Given the description of an element on the screen output the (x, y) to click on. 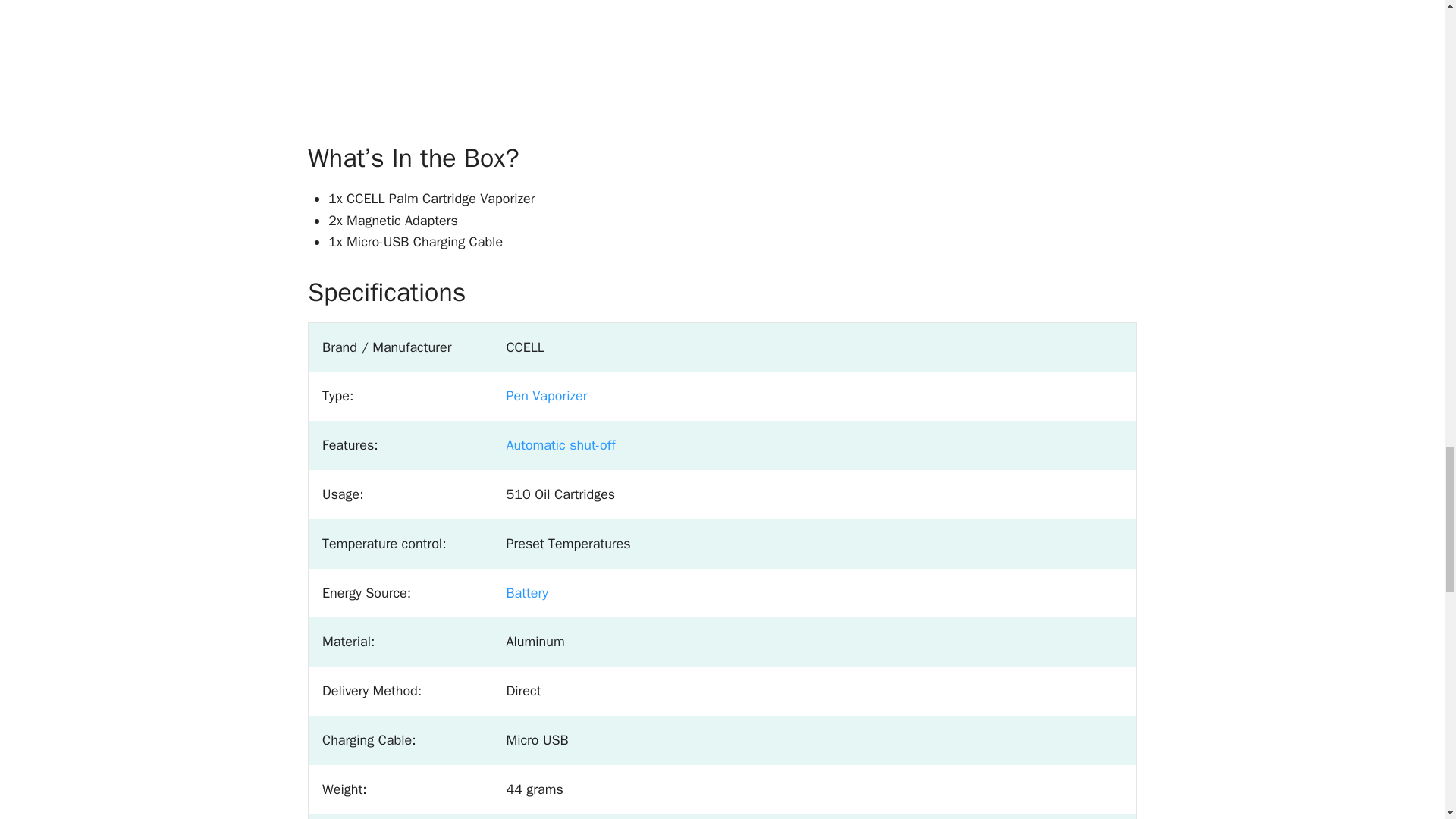
Pen Vaporizer (545, 395)
Show all: Vaporizers that automatically shut-off (559, 444)
Battery (526, 591)
Show all: Pen Vaporizers (545, 395)
CCell Palm 510 Thread Oil Cartridge Vaporizer (497, 54)
Show all: Battery-powered Cannabis Vaporizers (526, 591)
Automatic shut-off (559, 444)
